Given the description of an element on the screen output the (x, y) to click on. 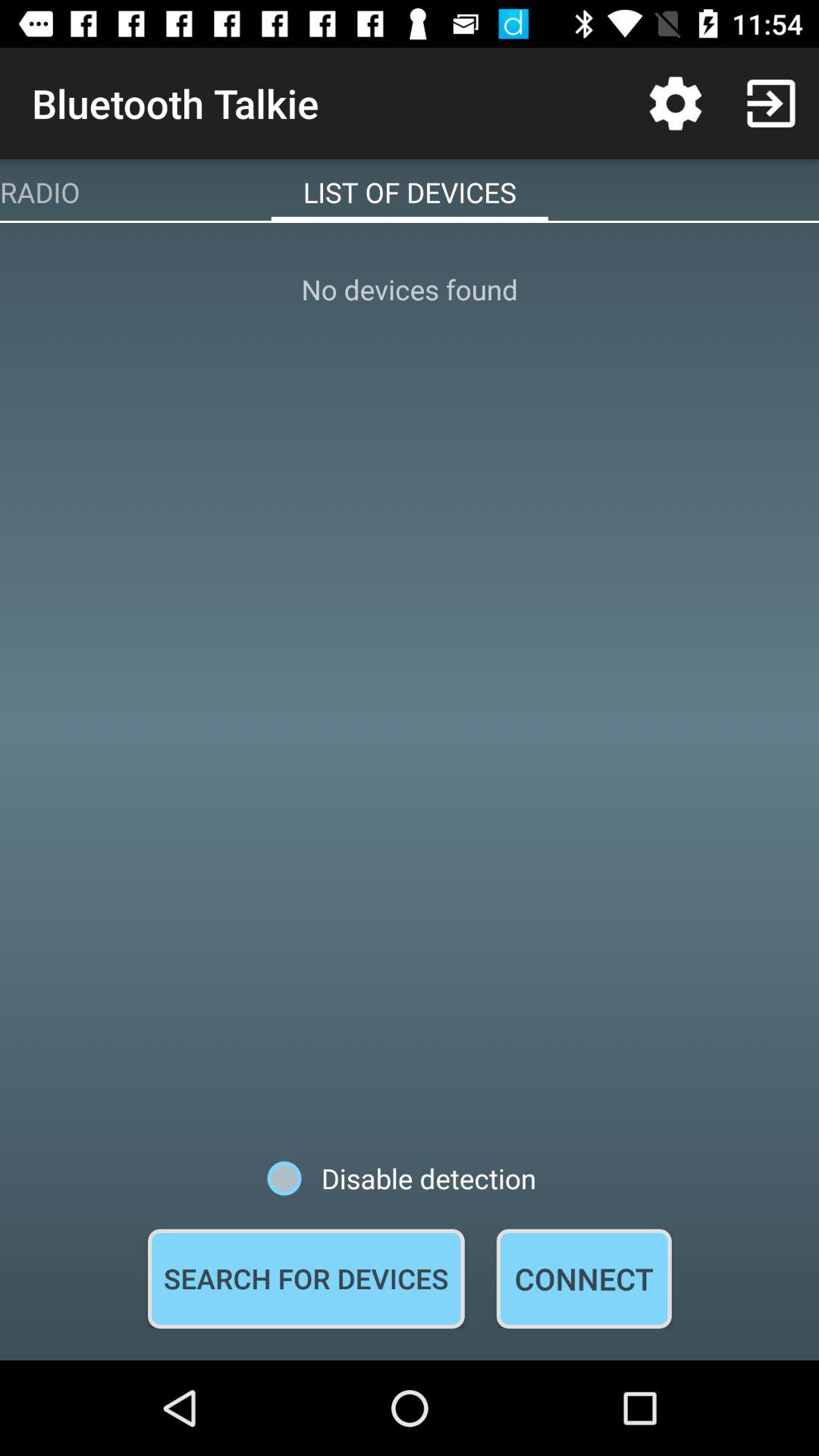
open the item next to the bluetooth talkie (675, 103)
